Given the description of an element on the screen output the (x, y) to click on. 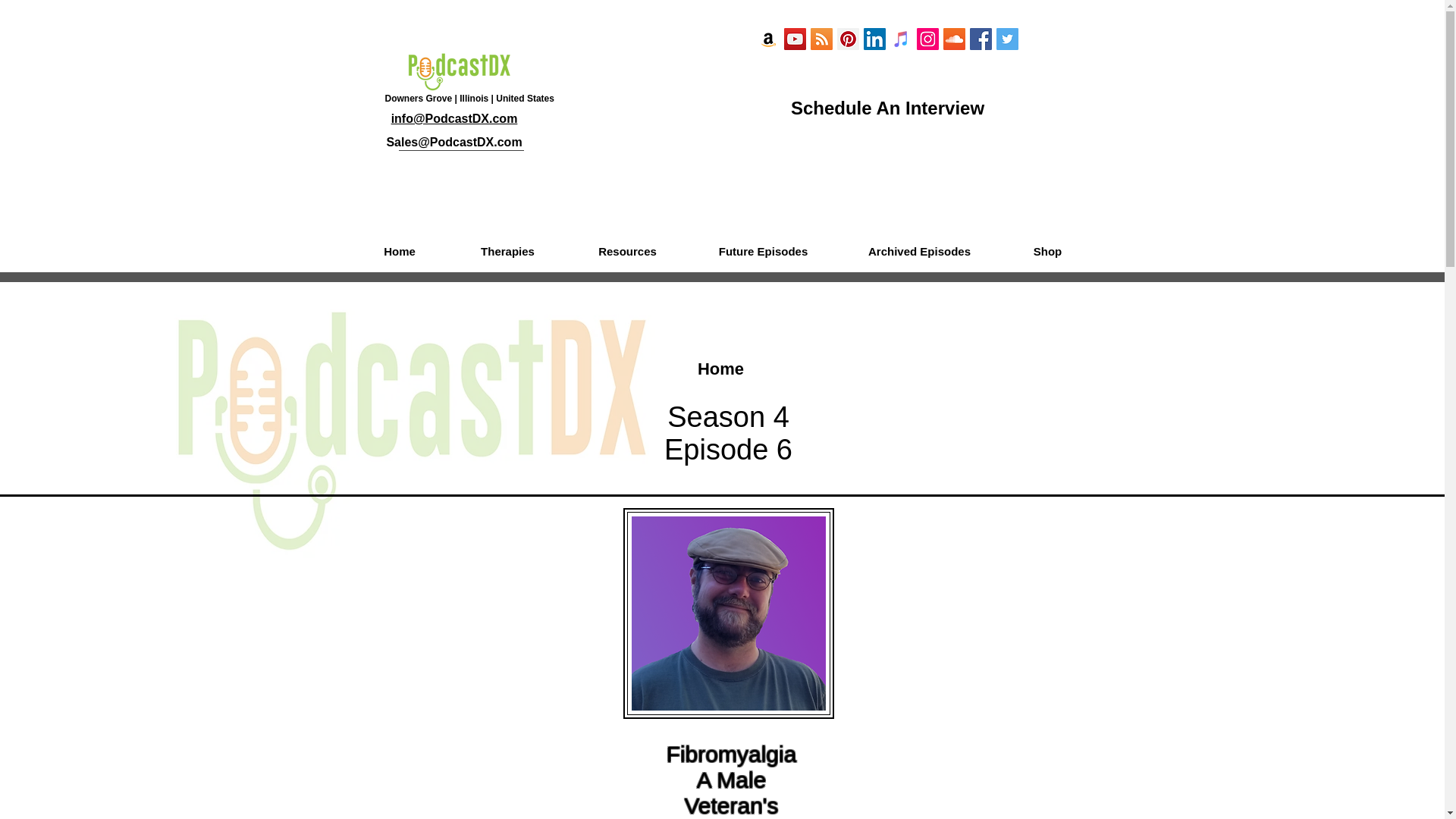
Home (719, 369)
Future Episodes (763, 251)
Shop (1047, 251)
Therapies (507, 251)
Schedule An Interview (887, 107)
Resources (626, 251)
Home (399, 251)
Archived Episodes (918, 251)
